Given the description of an element on the screen output the (x, y) to click on. 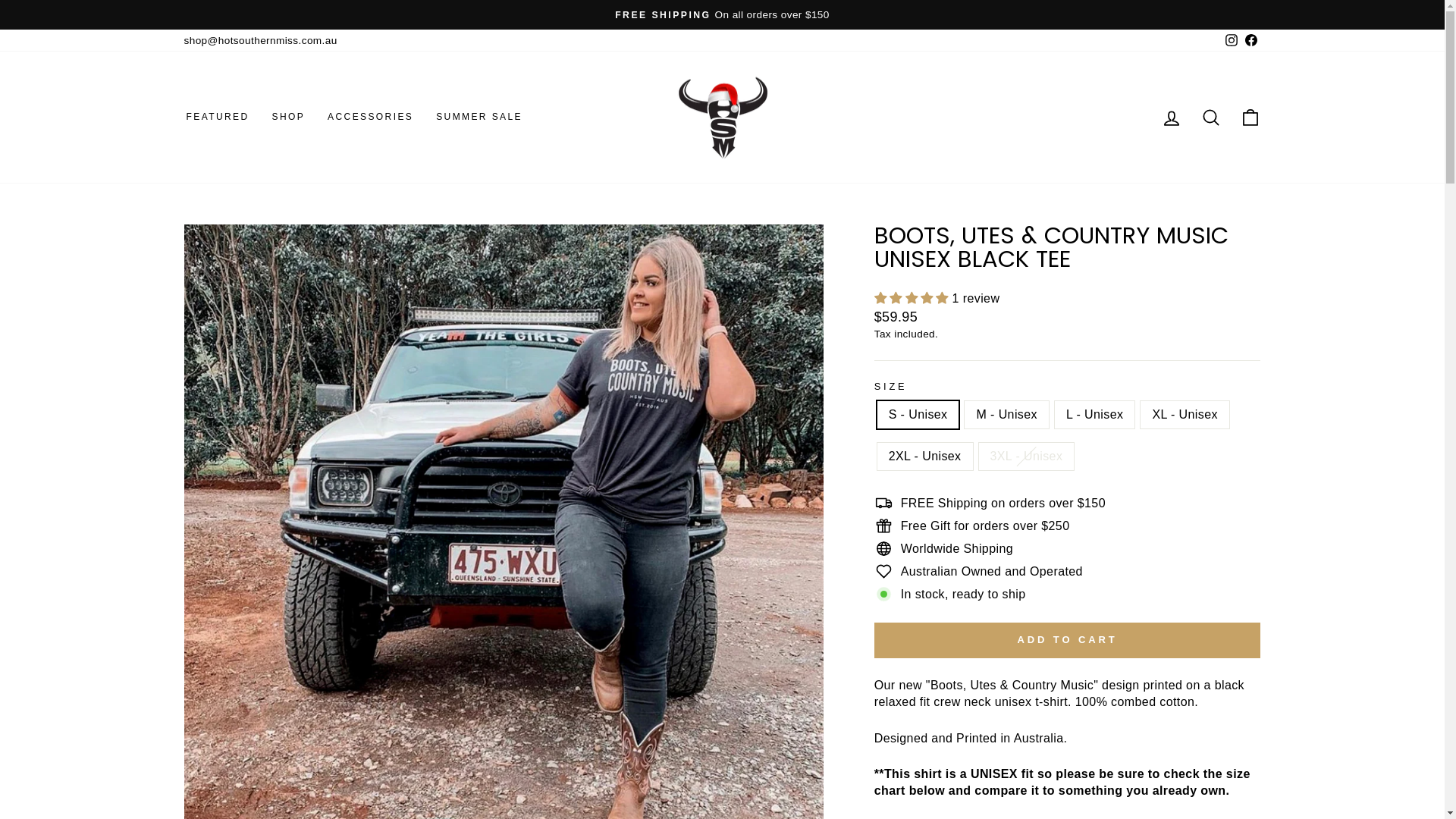
Instagram Element type: text (1230, 40)
Facebook Element type: text (1250, 40)
CART Element type: text (1249, 116)
shop@hotsouthernmiss.com.au Element type: text (259, 40)
ACCESSORIES Element type: text (370, 117)
ADD TO CART Element type: text (1067, 639)
FEATURED Element type: text (217, 117)
SUMMER SALE Element type: text (478, 117)
SHOP Element type: text (288, 117)
SEARCH Element type: text (1210, 116)
LOG IN Element type: text (1170, 116)
